Given the description of an element on the screen output the (x, y) to click on. 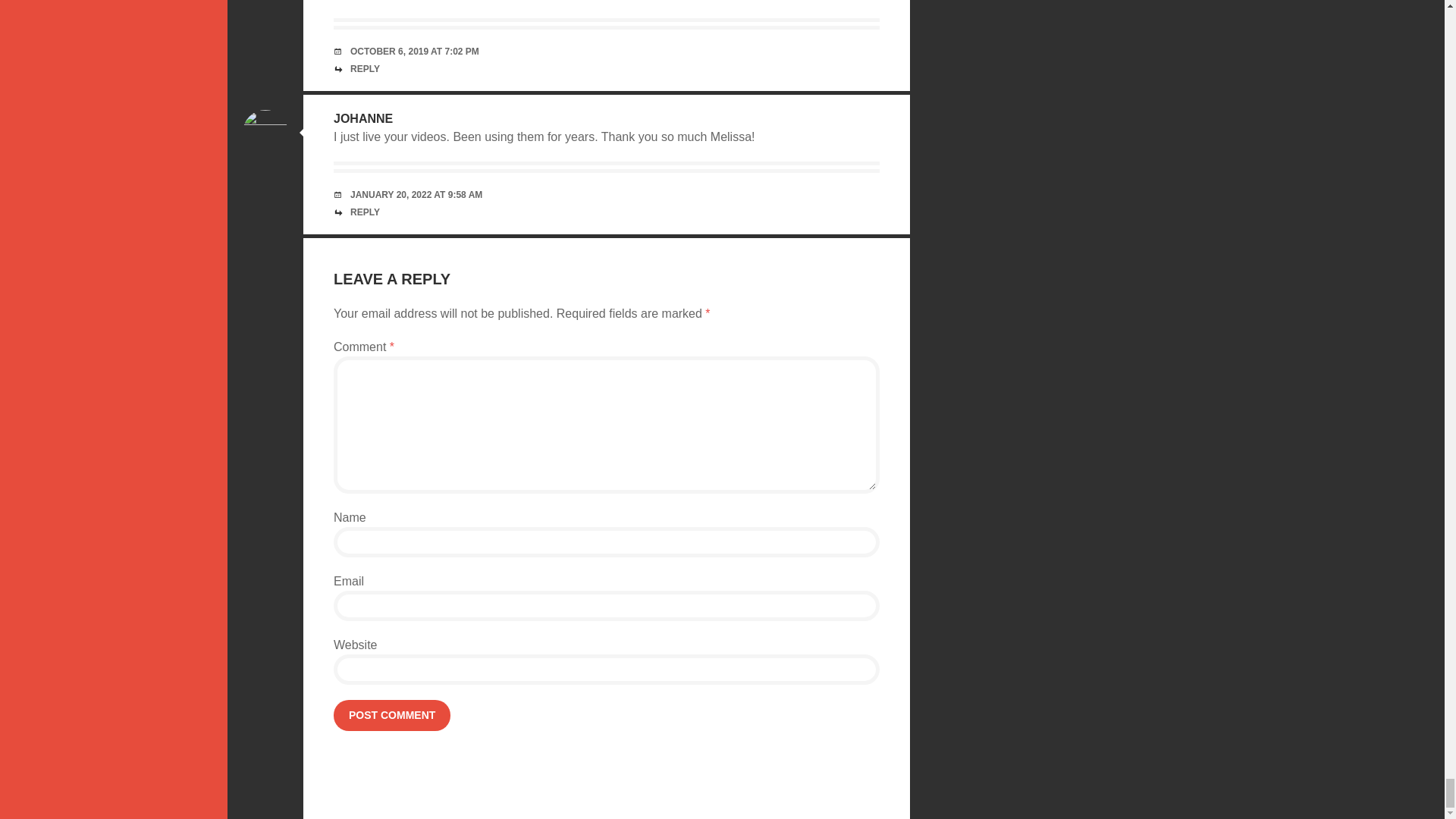
Post Comment (391, 714)
